Given the description of an element on the screen output the (x, y) to click on. 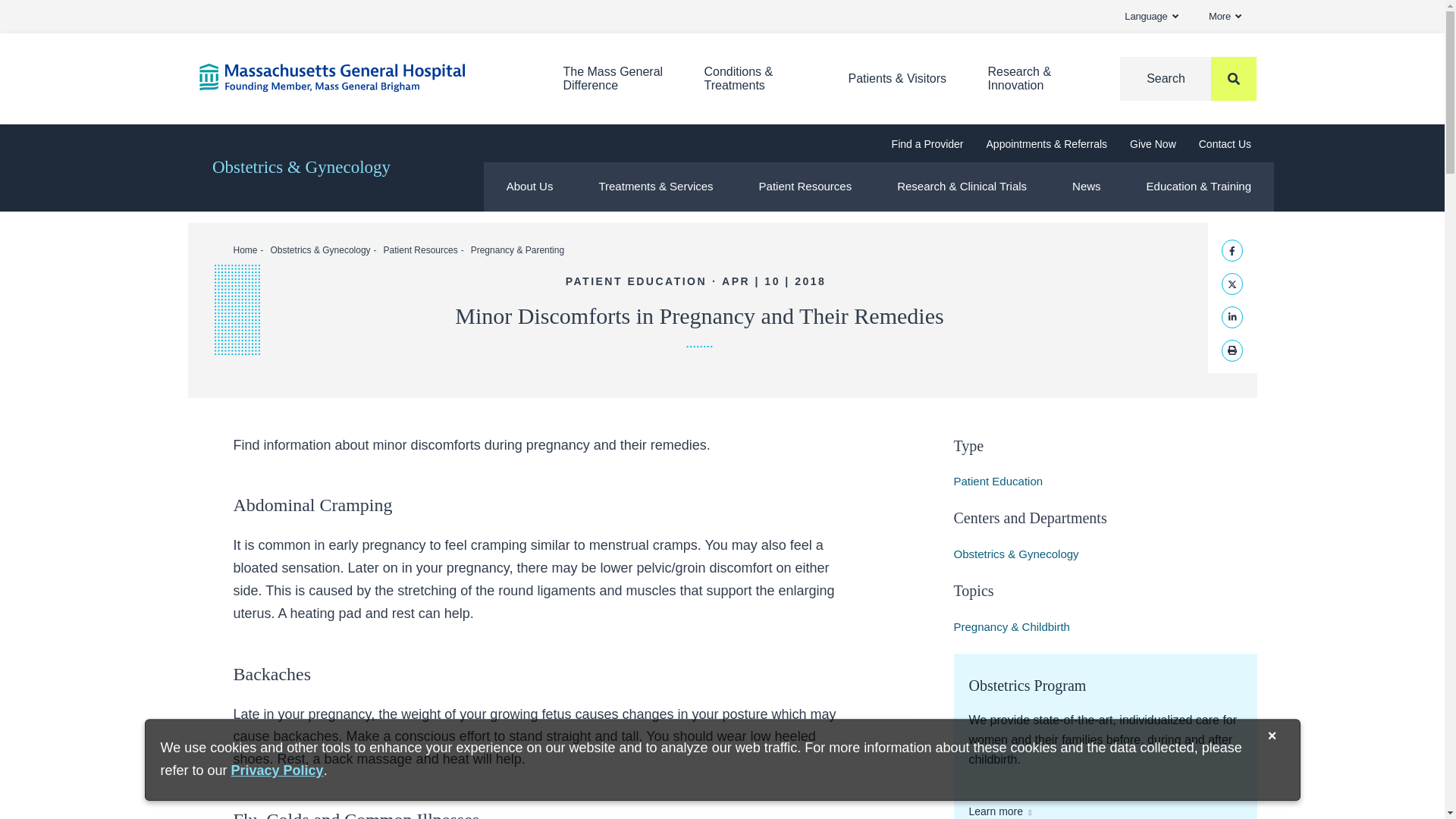
Home (357, 77)
Language (1151, 16)
More (1224, 16)
